Given the description of an element on the screen output the (x, y) to click on. 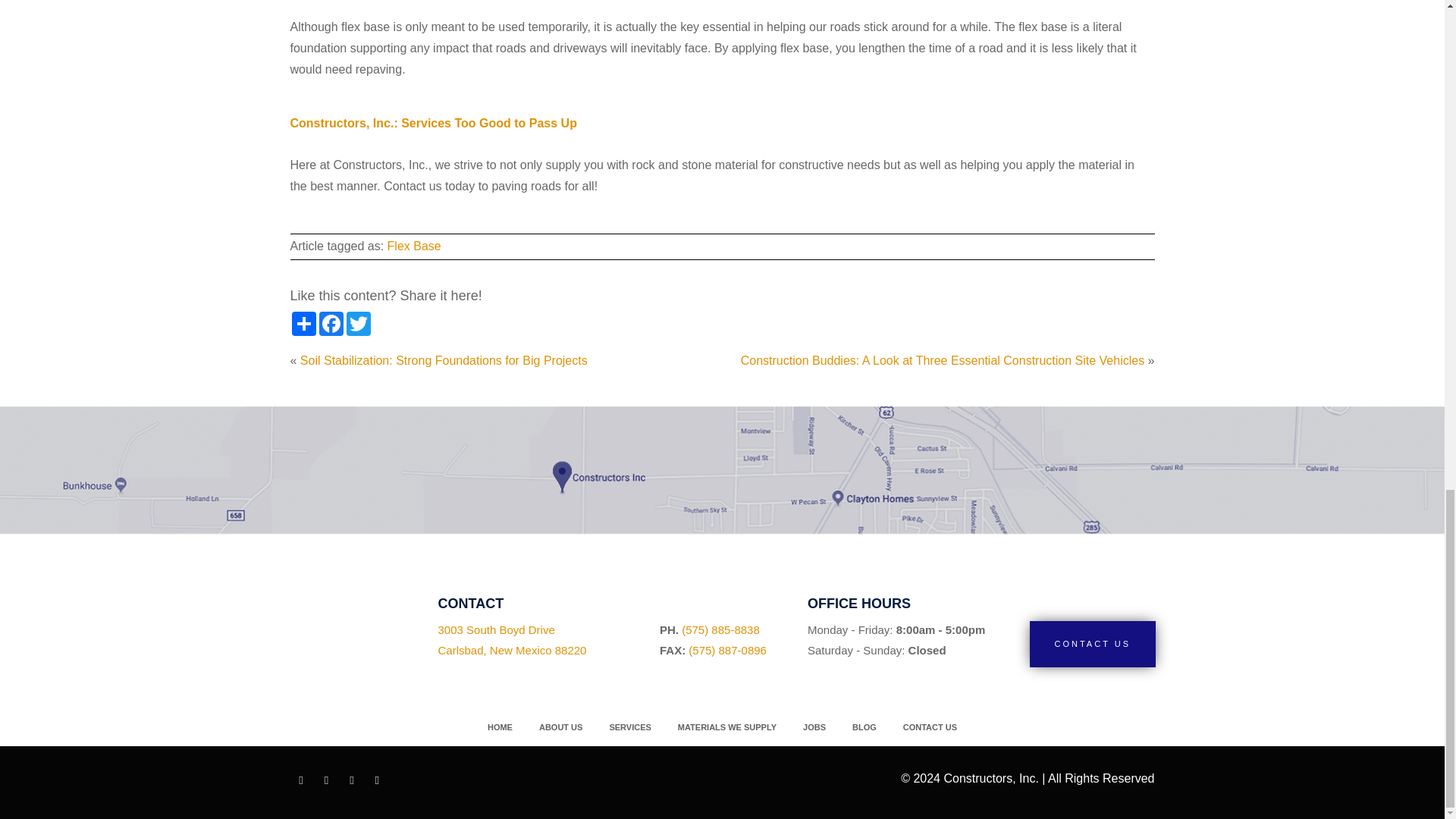
Soil Stabilization: Strong Foundations for Big Projects (443, 359)
Facebook (330, 323)
Home (499, 726)
HOME (499, 726)
ABOUT US (560, 726)
Twitter (512, 639)
CONTACT US (357, 323)
CONTACT US (1092, 644)
Flex Base (1091, 644)
